Given the description of an element on the screen output the (x, y) to click on. 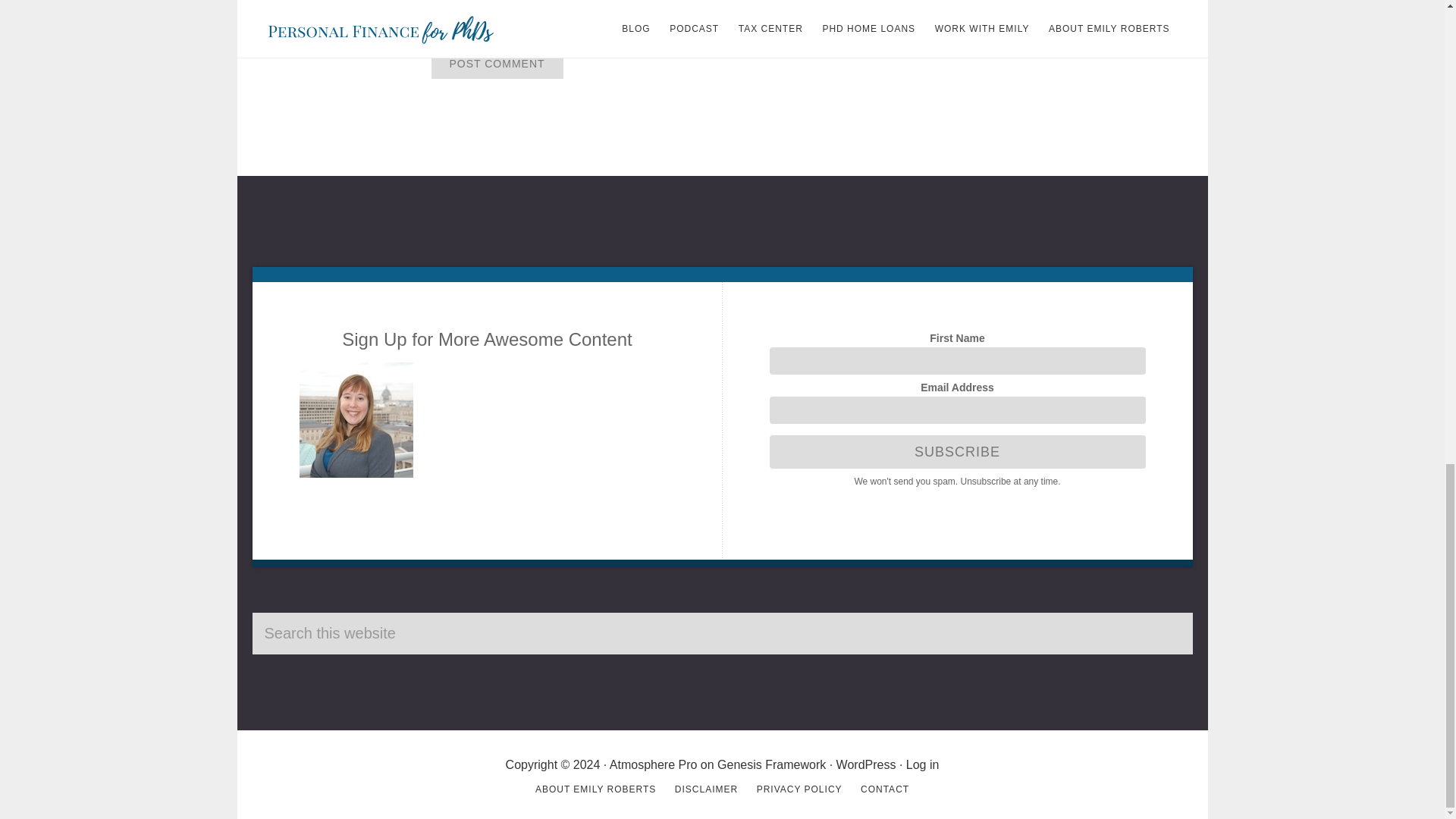
Atmosphere Pro (653, 764)
ABOUT EMILY ROBERTS (595, 788)
WordPress (865, 764)
SUBSCRIBE (956, 451)
Powered by ConvertKit (956, 499)
CONTACT (884, 788)
Genesis Framework (771, 764)
PRIVACY POLICY (800, 788)
DISCLAIMER (706, 788)
Post Comment (496, 63)
Log in (922, 764)
Post Comment (496, 63)
